Given the description of an element on the screen output the (x, y) to click on. 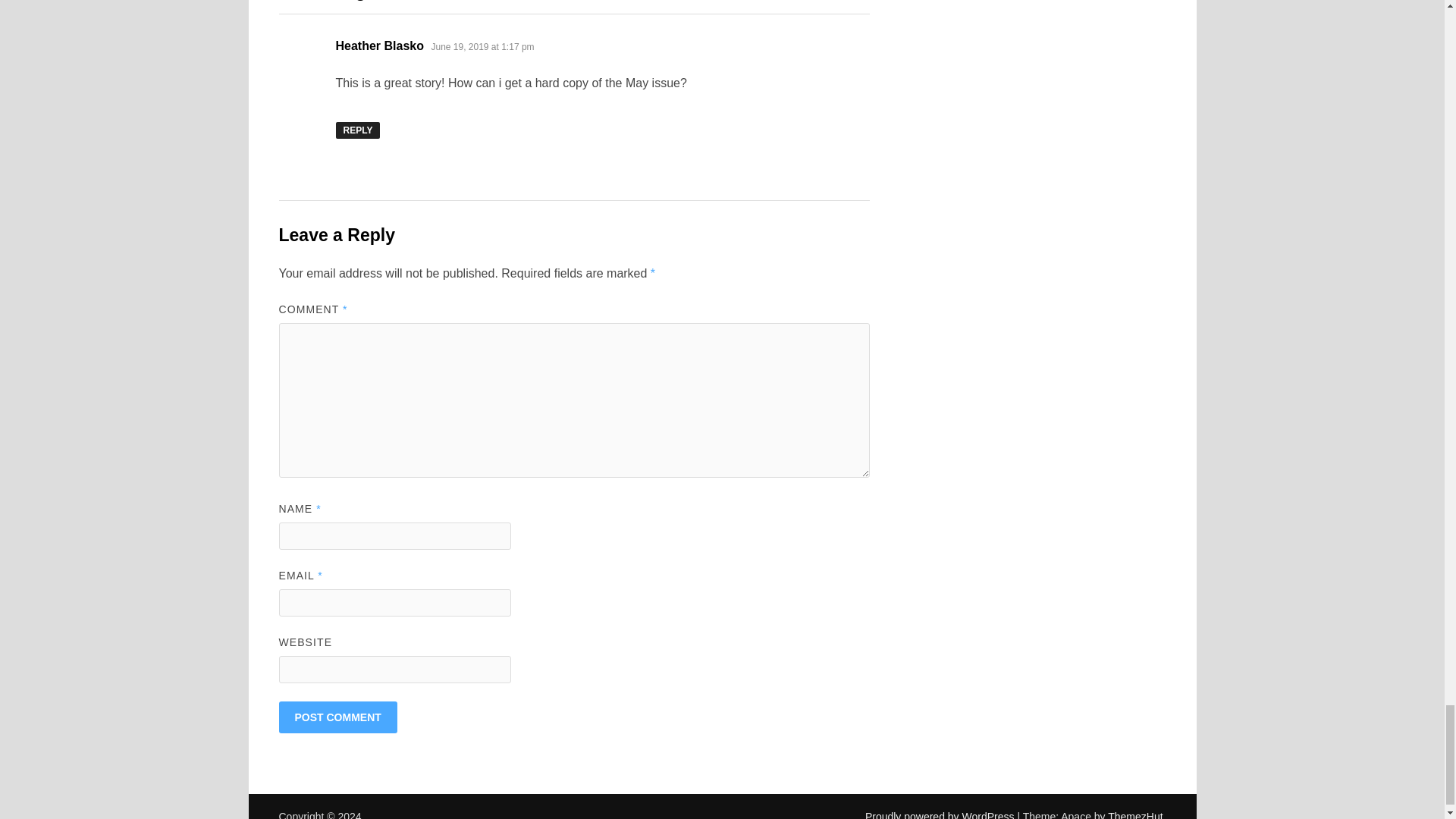
Post Comment (338, 717)
June 19, 2019 at 1:17 pm (482, 46)
Heather Blasko (378, 45)
Post Comment (338, 717)
REPLY (357, 130)
